Given the description of an element on the screen output the (x, y) to click on. 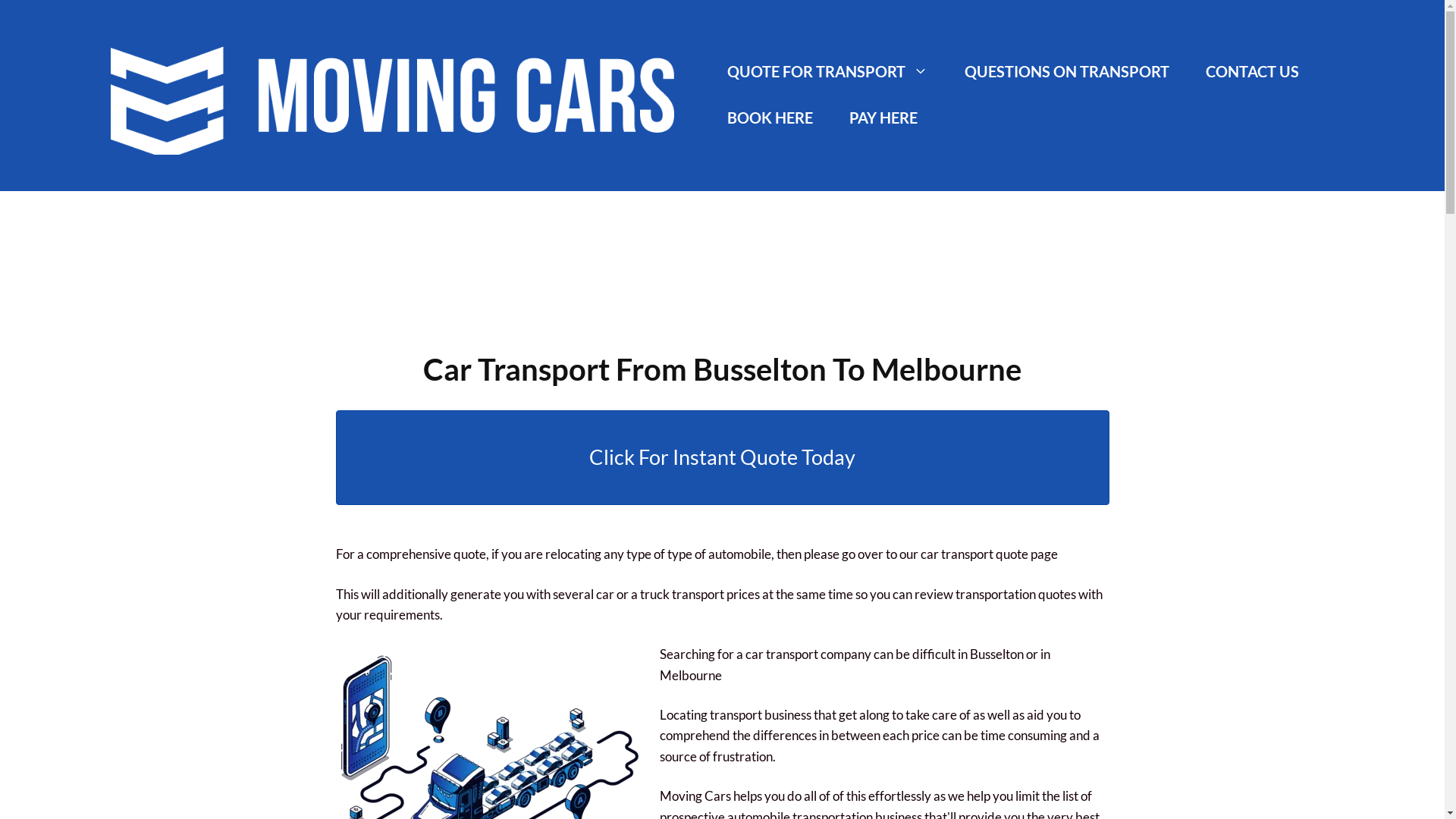
PAY HERE Element type: text (883, 117)
car transport quote Element type: text (974, 553)
QUOTE FOR TRANSPORT Element type: text (827, 71)
Click For Instant Quote Today Element type: text (721, 457)
CONTACT US Element type: text (1252, 71)
BOOK HERE Element type: text (770, 117)
QUESTIONS ON TRANSPORT Element type: text (1066, 71)
